Given the description of an element on the screen output the (x, y) to click on. 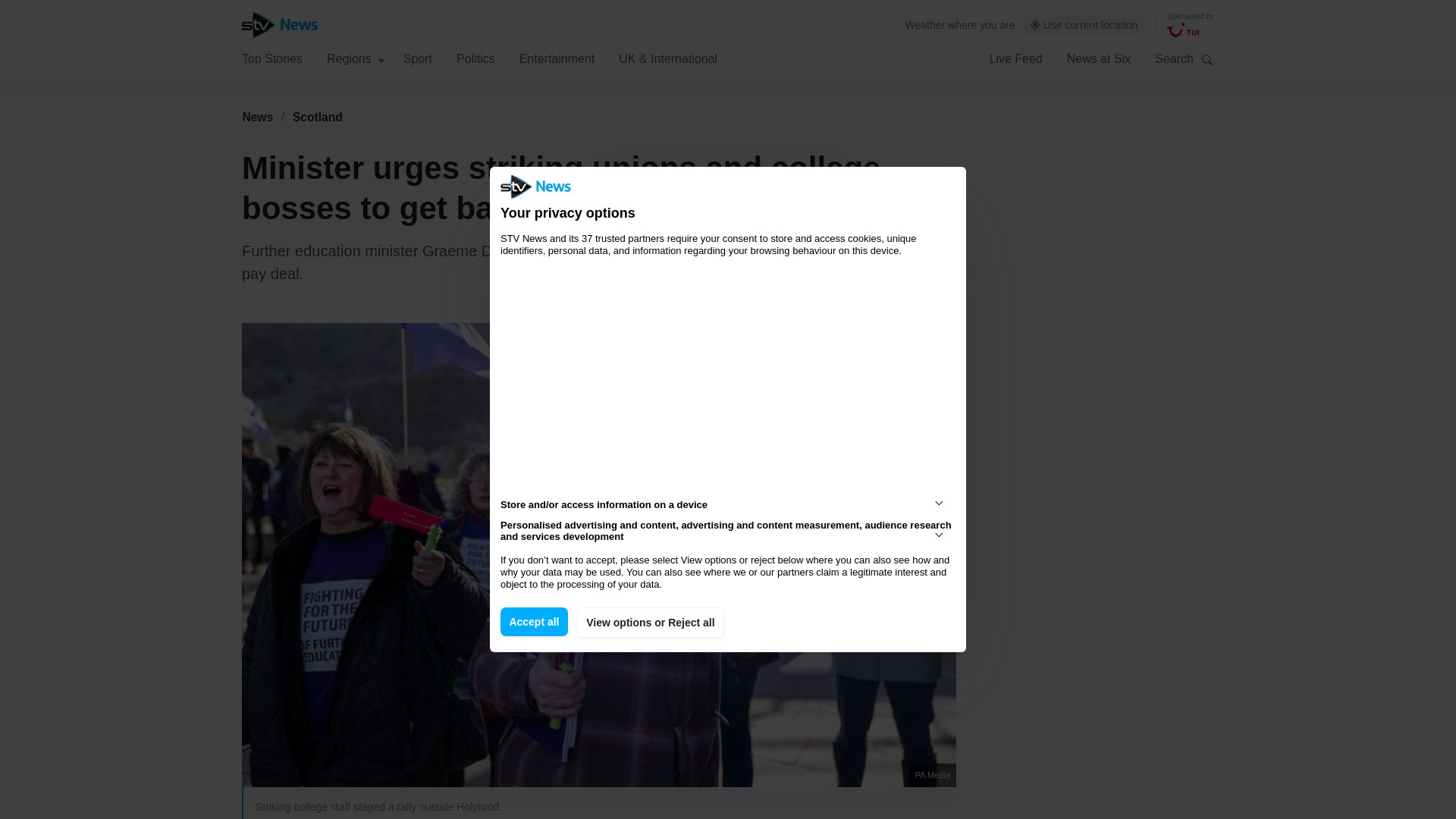
Scotland (317, 116)
Top Stories (271, 57)
Regions (355, 57)
News (257, 116)
Politics (476, 57)
Search (1206, 59)
Weather (924, 24)
Live Feed (1015, 57)
News at Six (1099, 57)
